Given the description of an element on the screen output the (x, y) to click on. 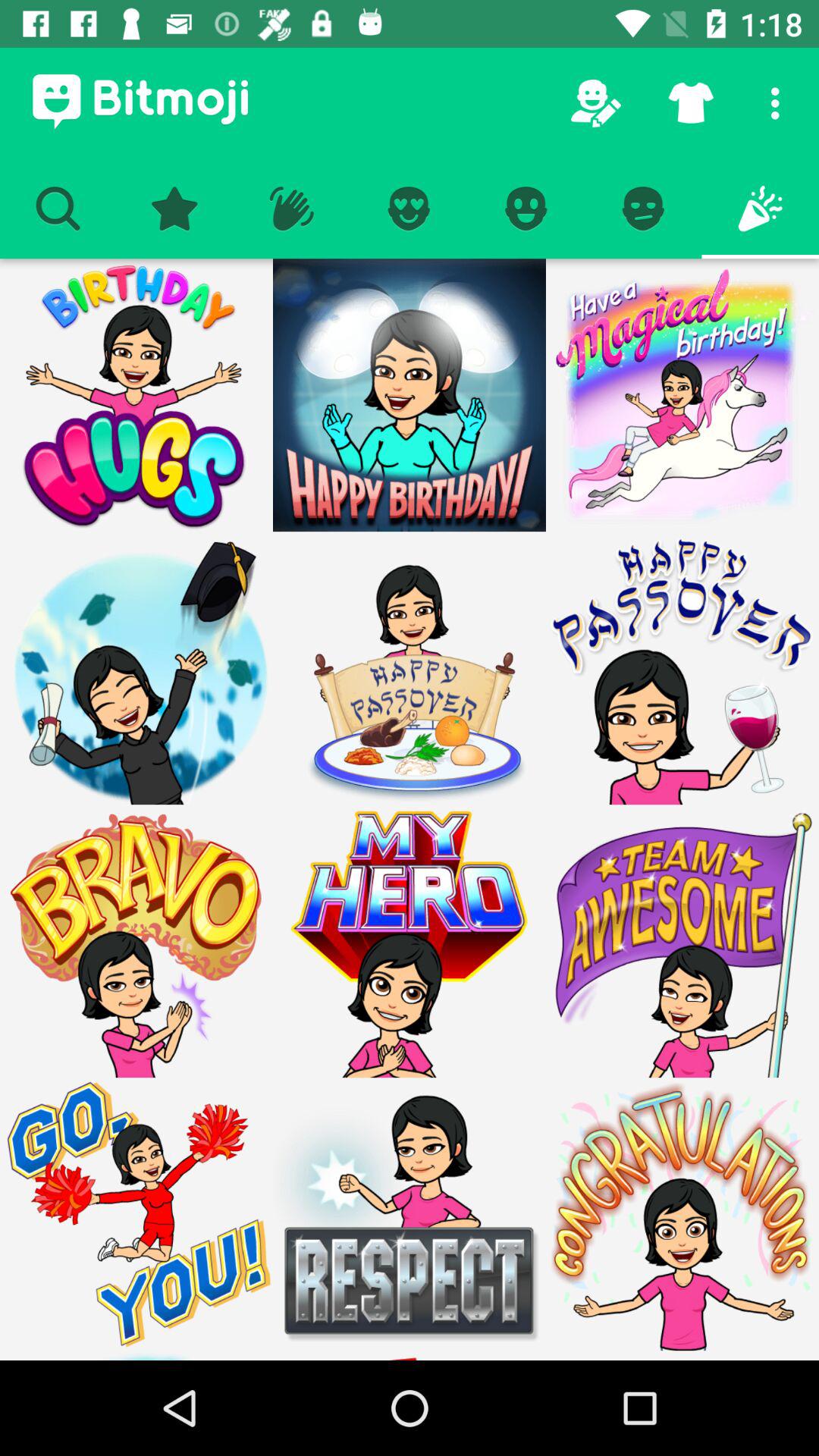
select the emoji (682, 940)
